Given the description of an element on the screen output the (x, y) to click on. 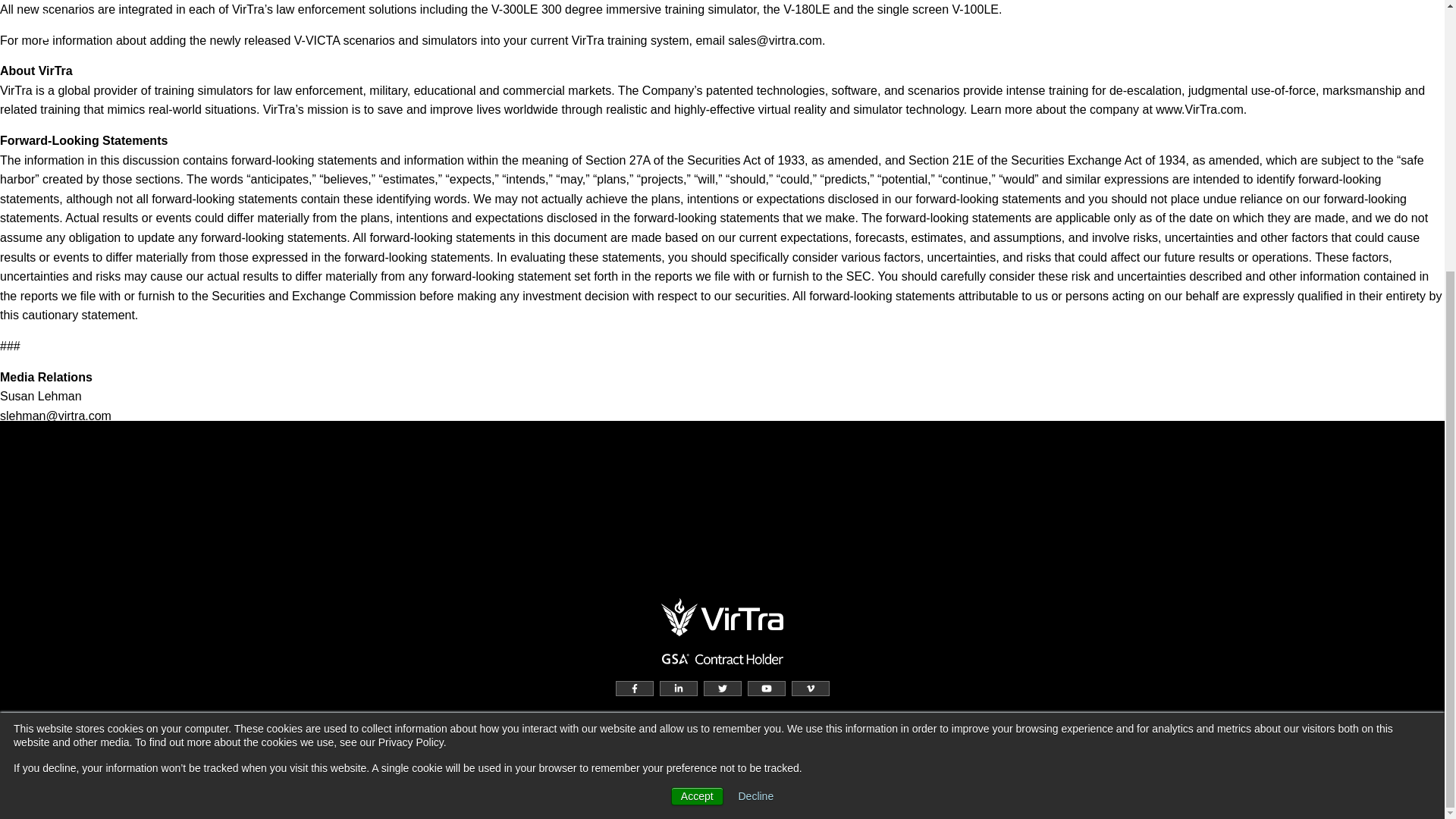
Decline (756, 398)
GSA (722, 658)
Accept (697, 398)
